Given the description of an element on the screen output the (x, y) to click on. 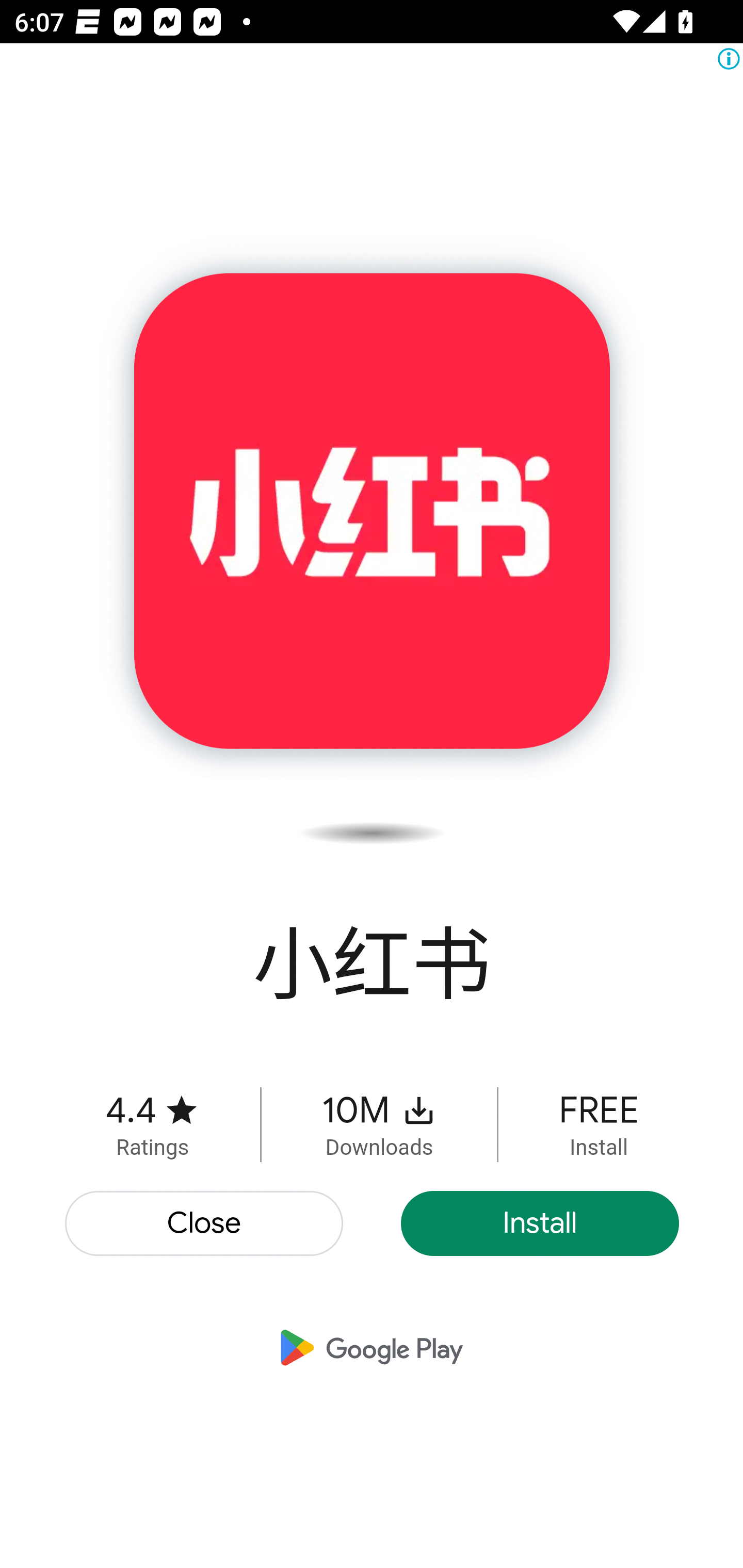
Close (204, 1222)
Install (539, 1222)
